Given the description of an element on the screen output the (x, y) to click on. 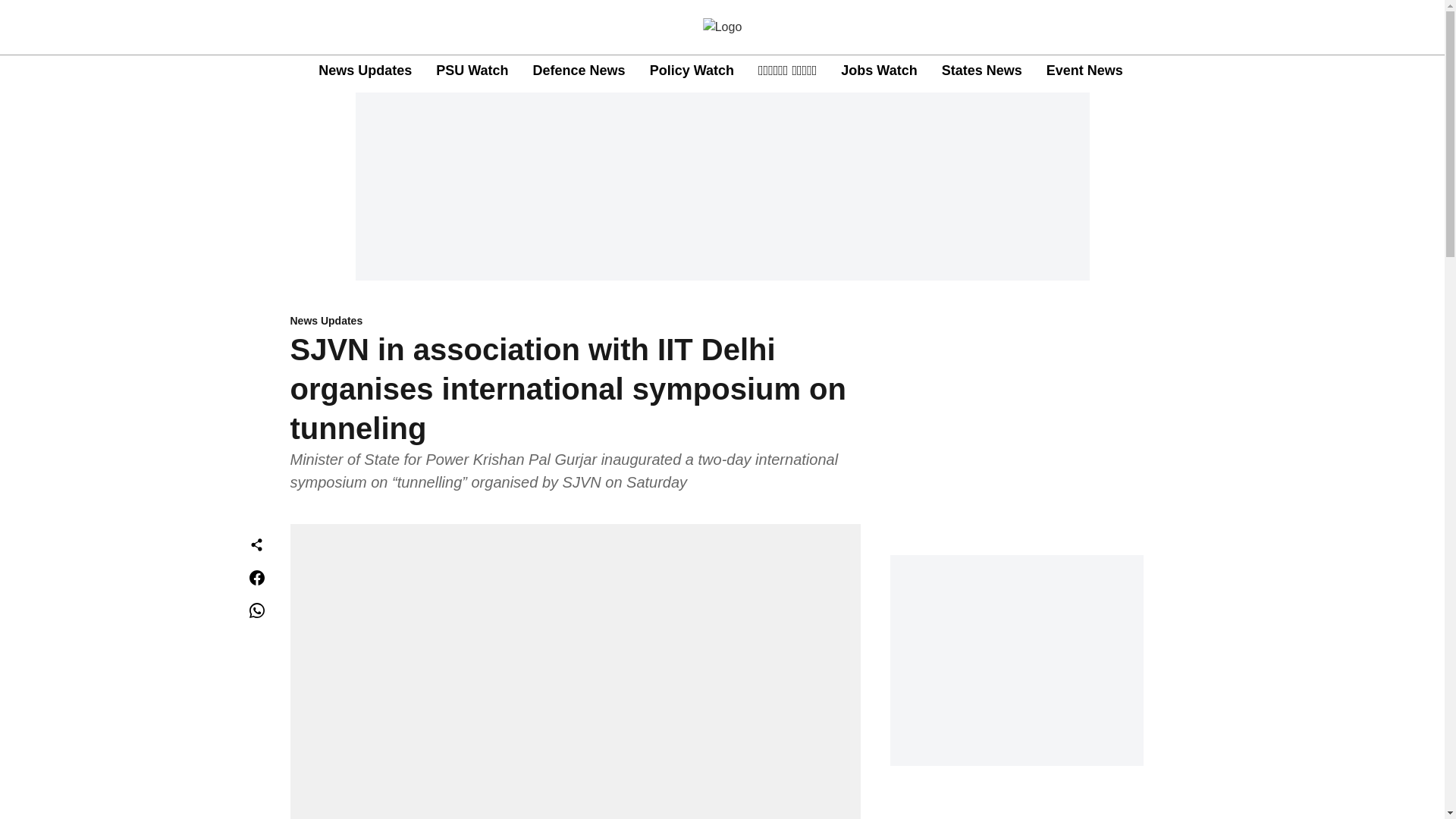
News Updates (574, 321)
News Updates (365, 70)
Event News (1084, 70)
States News (982, 70)
Jobs Watch (879, 70)
Policy Watch (691, 70)
PSU Watch (471, 70)
Defence News (579, 70)
